Given the description of an element on the screen output the (x, y) to click on. 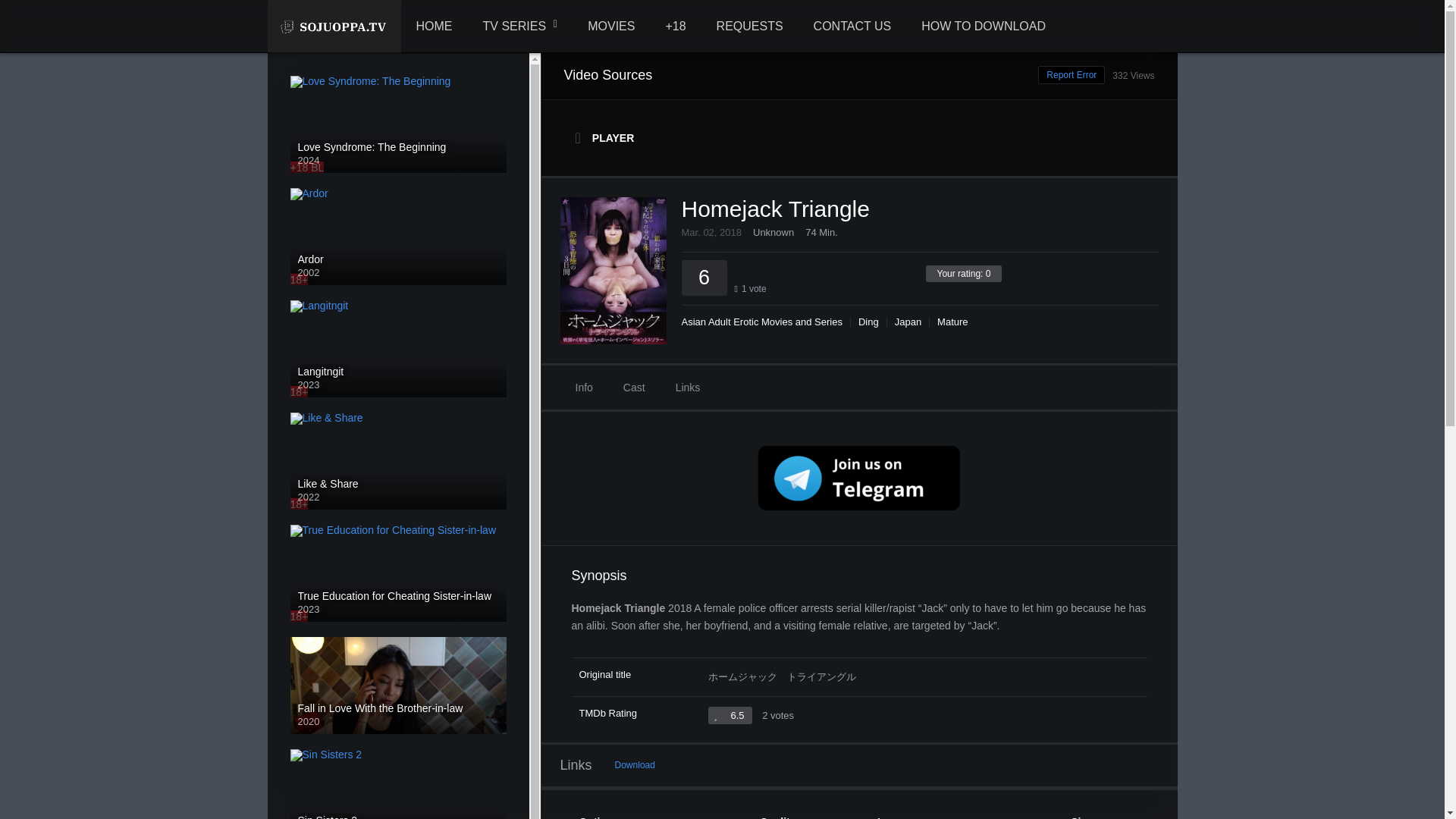
TV SERIES (520, 26)
MOVIES (610, 26)
PLAYER (859, 137)
REQUESTS (749, 26)
HOW TO DOWNLOAD (983, 26)
CONTACT US (852, 26)
HOME (434, 26)
